Given the description of an element on the screen output the (x, y) to click on. 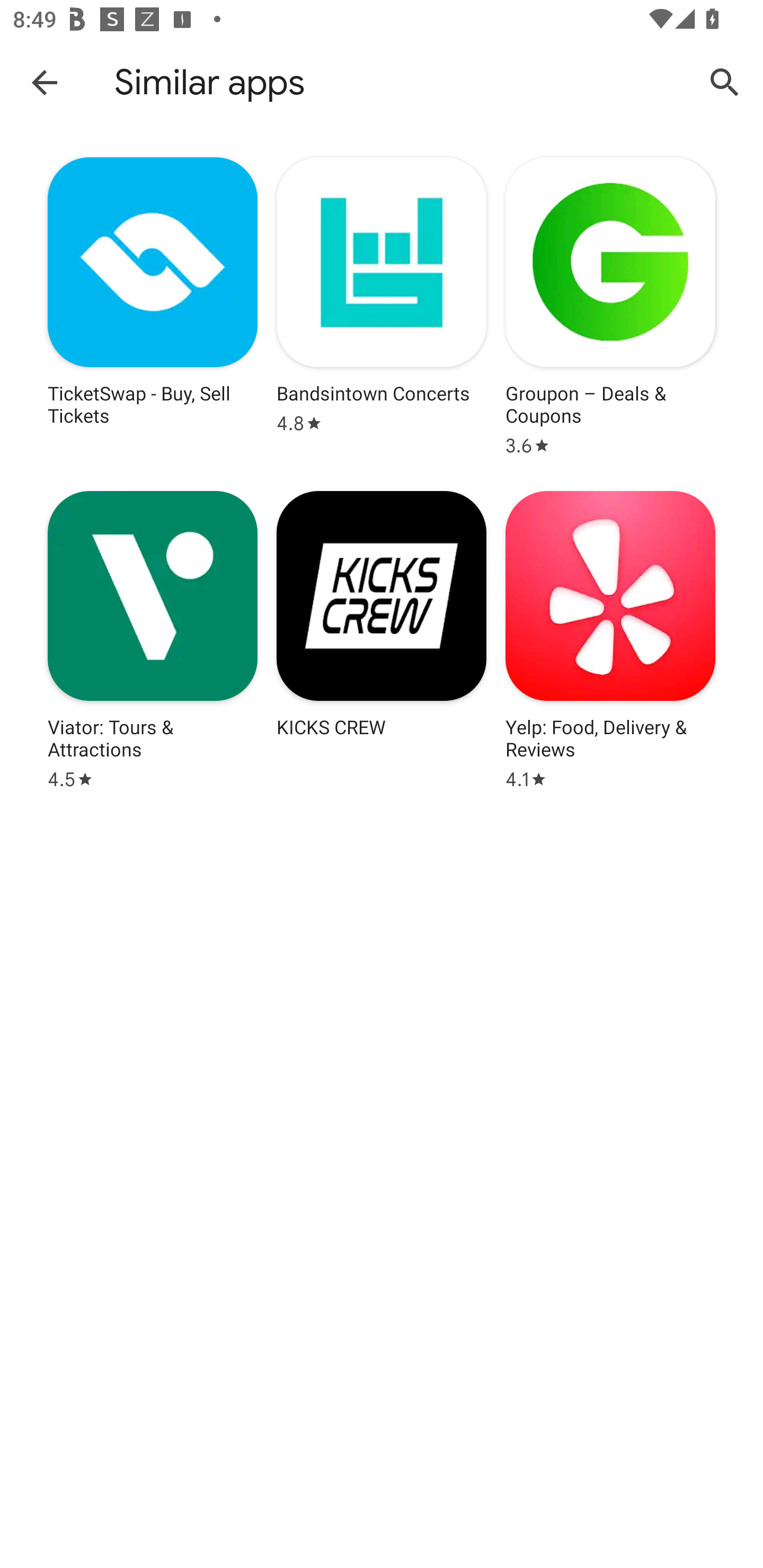
Navigate up (44, 81)
Search Google Play (724, 81)
App: TicketSwap - Buy, Sell Tickets


 (152, 306)
App: Bandsintown Concerts
Star rating: 4.8


 (381, 306)
App: Groupon – Deals & Coupons
Star rating: 3.6


 (609, 306)
App: KICKS CREW


 (381, 640)
